Given the description of an element on the screen output the (x, y) to click on. 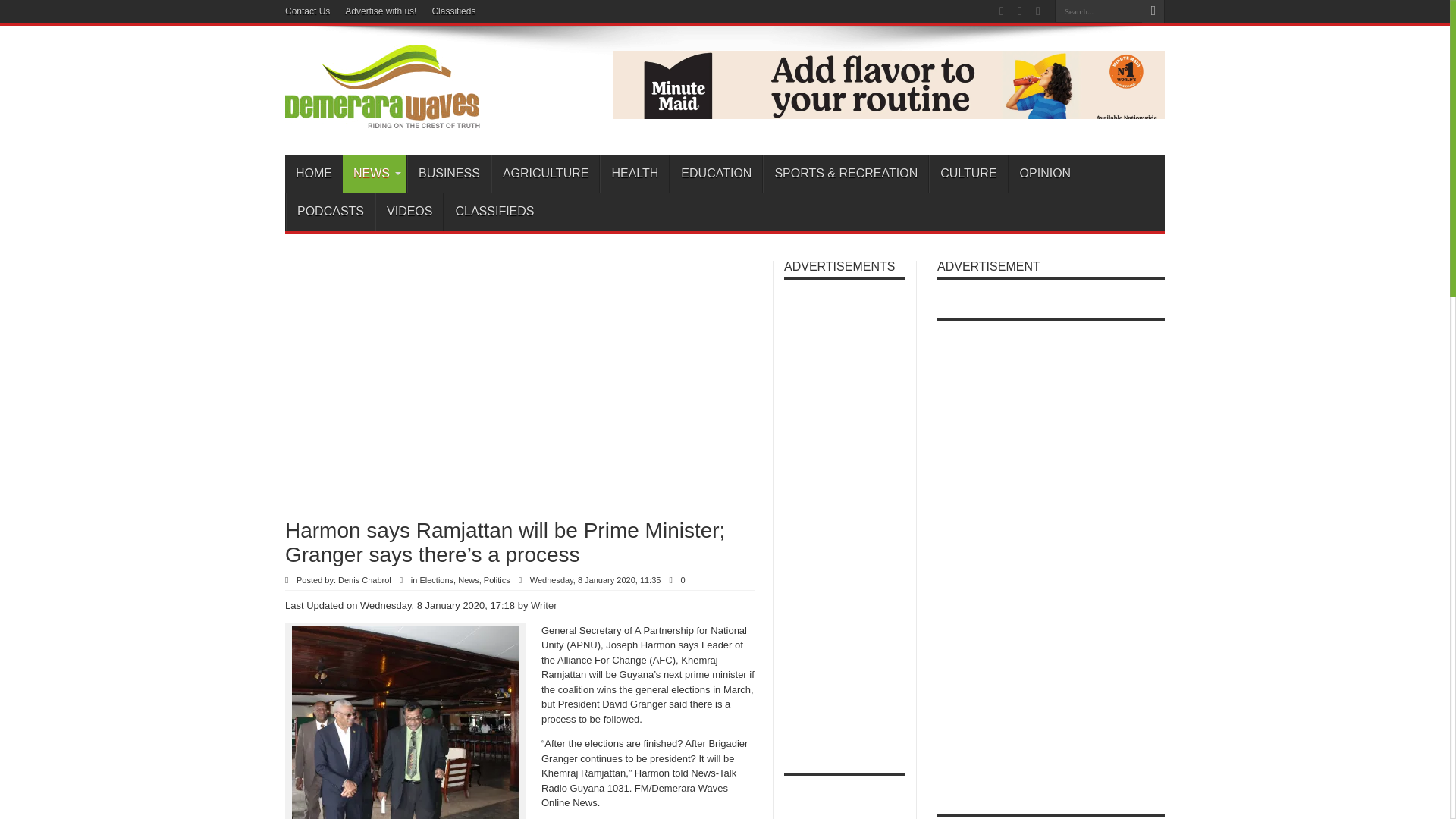
Advertisement (462, 382)
Search... (1097, 11)
EDUCATION (715, 173)
VIDEOS (408, 211)
Contact Us (307, 11)
Search (1152, 11)
OPINION (1045, 173)
CULTURE (967, 173)
AGRICULTURE (545, 173)
Demerara Waves Online News- Guyana (382, 116)
CLASSIFIEDS (494, 211)
Advertise with us! (380, 11)
HEALTH (633, 173)
PODCASTS (329, 211)
Classifieds (453, 11)
